Given the description of an element on the screen output the (x, y) to click on. 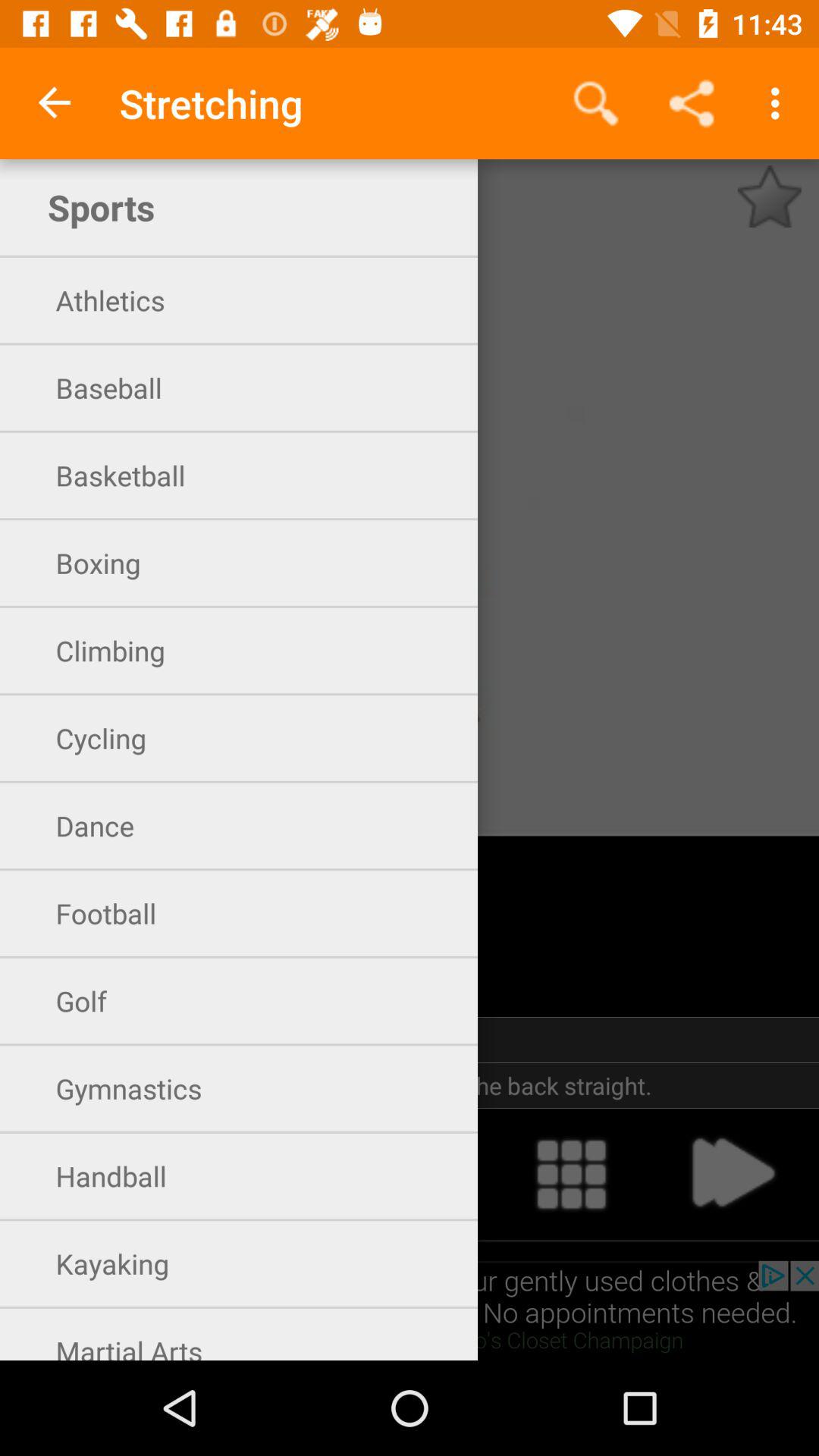
clik favorite (769, 196)
